Given the description of an element on the screen output the (x, y) to click on. 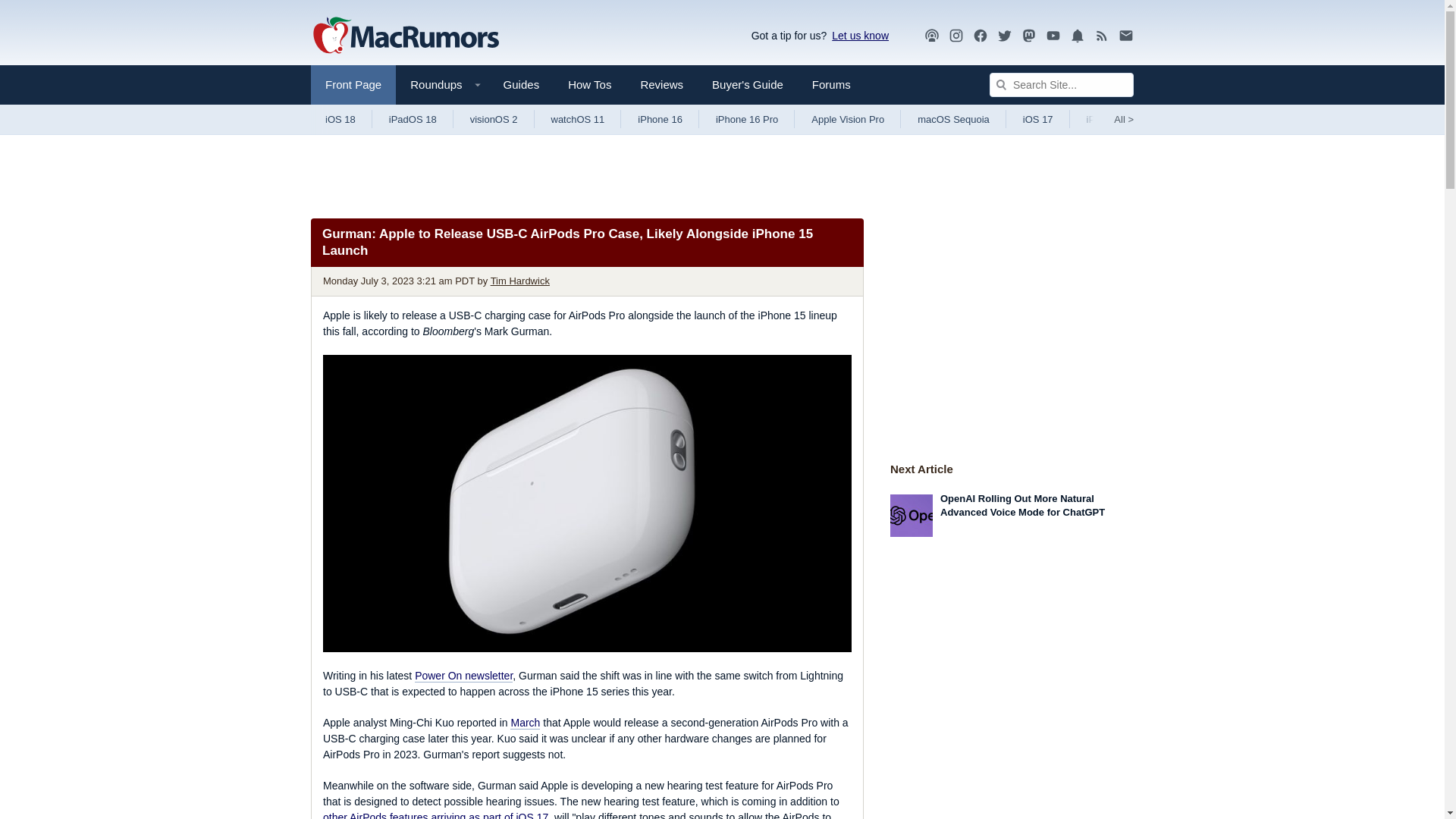
MacRumors Show (931, 35)
Front Page (353, 84)
Podcast (931, 35)
MacRumors Newsletter Signup (1126, 35)
RSS (1101, 35)
YouTube (1053, 35)
MacRumors on Twitter (1004, 35)
Mastodon (1029, 35)
Twitter (1004, 35)
Front (353, 84)
MacRumors FaceBook Page (980, 35)
Apple, Mac, iPhone, iPad News and Rumors (405, 36)
Podcast (931, 35)
Instagram (956, 35)
Twitter (1004, 35)
